Given the description of an element on the screen output the (x, y) to click on. 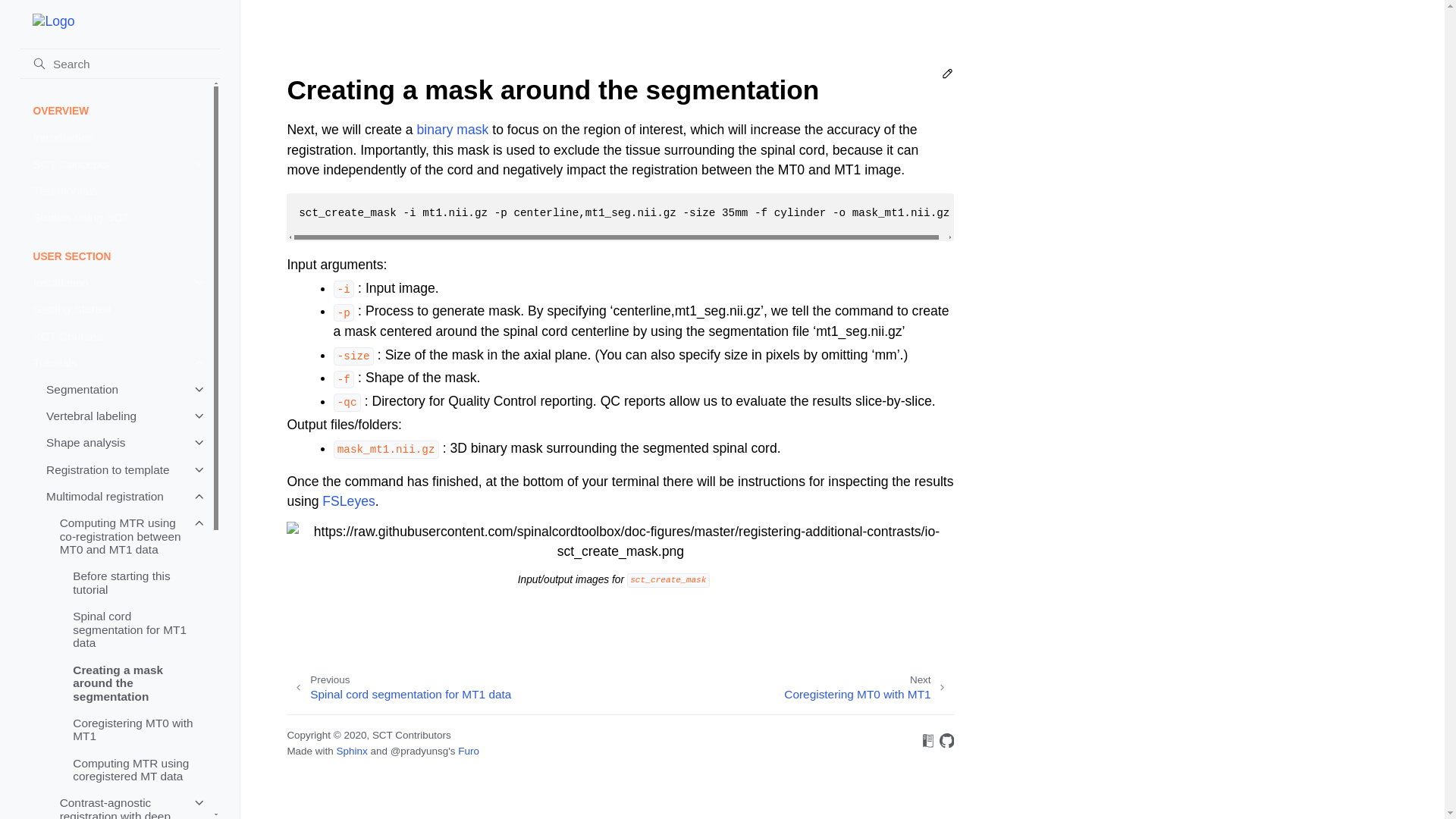
Edit this page (947, 75)
SCT Concepts (116, 163)
Installation (116, 283)
Testimonials (116, 190)
Tutorials (116, 362)
Studies using SCT (116, 216)
SCT Courses (116, 335)
Getting Started (116, 309)
Segmentation (121, 388)
Introduction (116, 137)
